Given the description of an element on the screen output the (x, y) to click on. 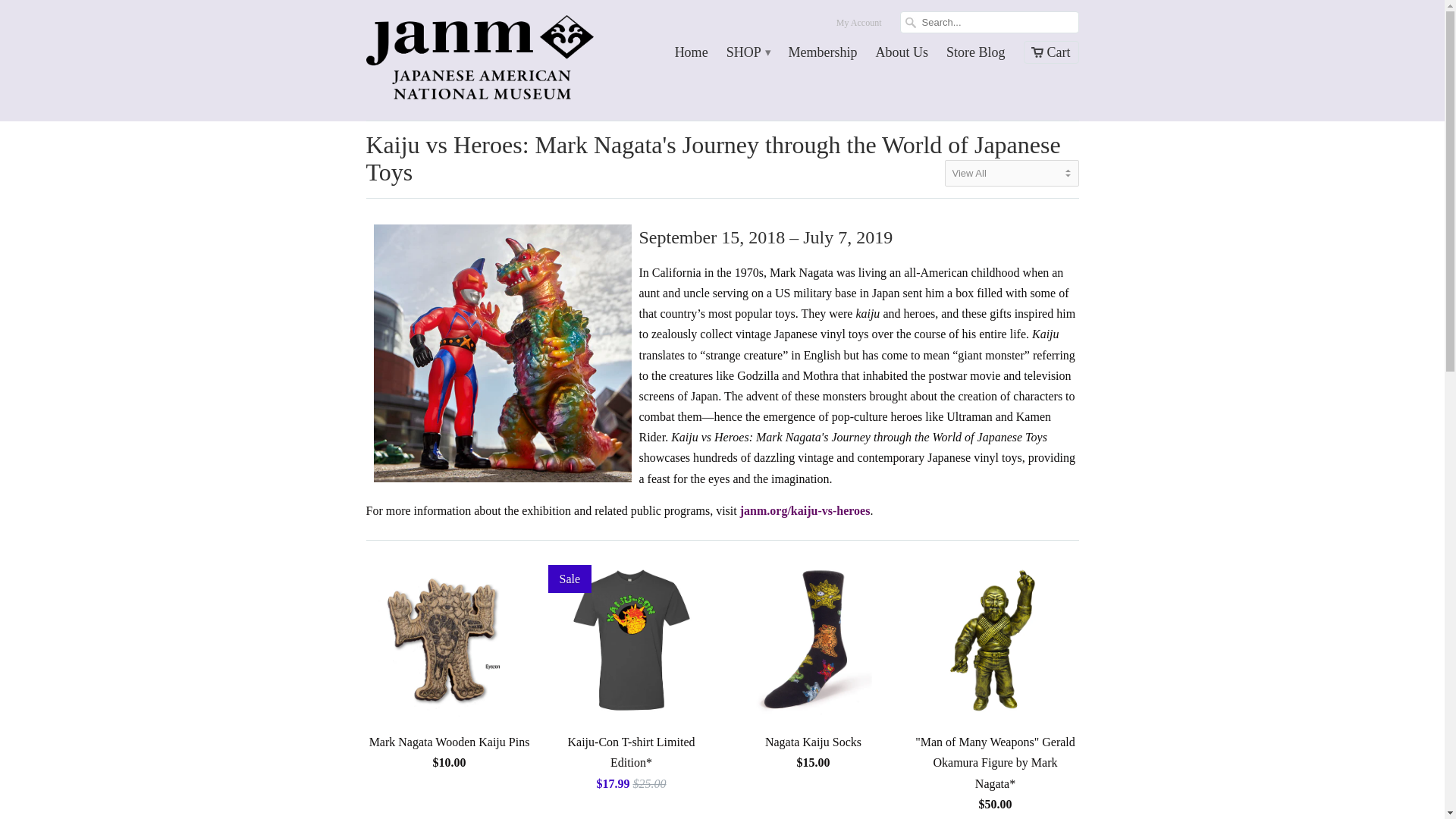
SHOP (748, 56)
Japanese American National Museum Store (478, 59)
My Account  (858, 25)
Home (691, 55)
My Account (858, 25)
Home (691, 55)
